Given the description of an element on the screen output the (x, y) to click on. 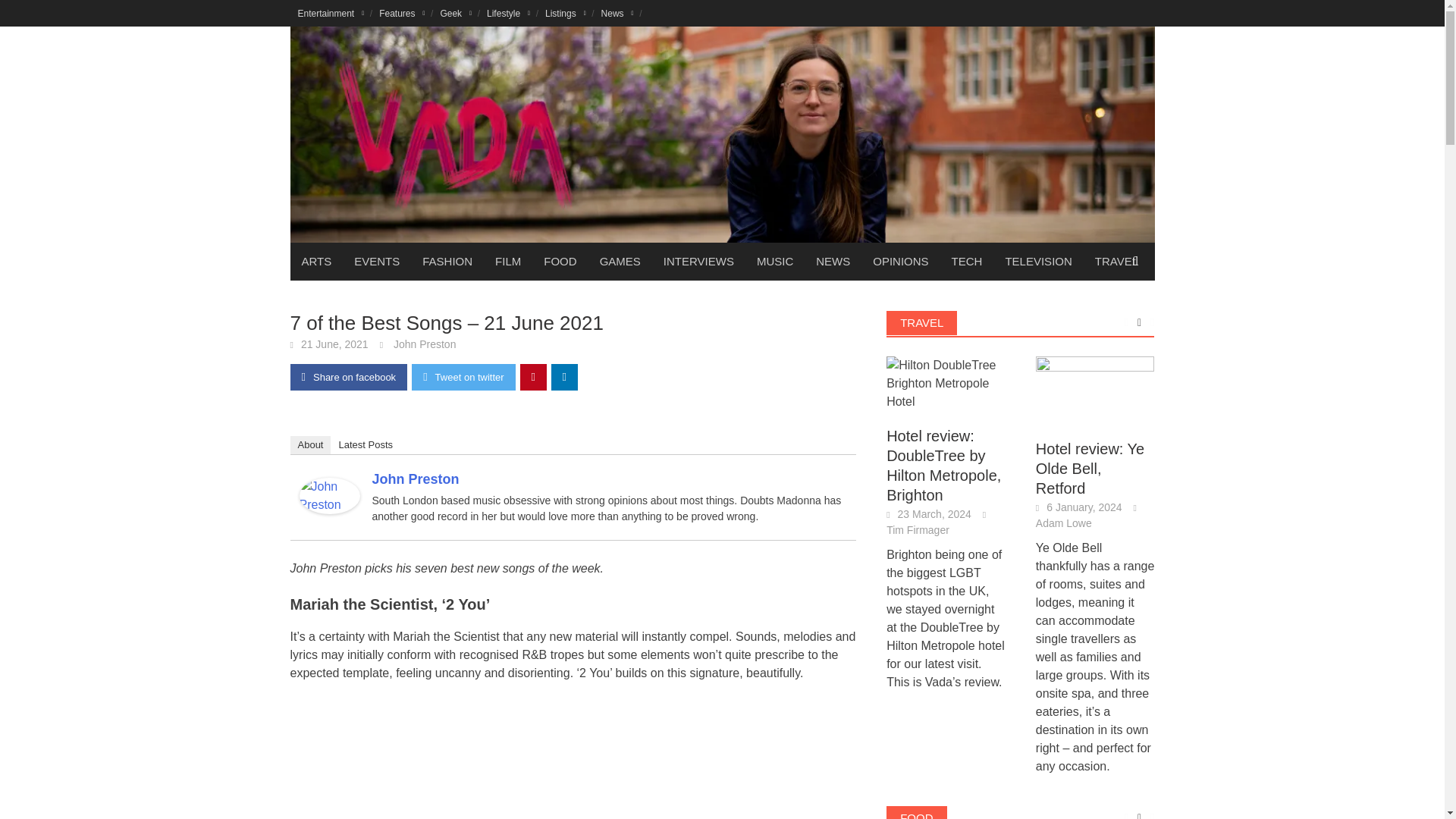
Hotel review: DoubleTree by Hilton Metropole, Brighton (946, 383)
EVENTS (376, 261)
NEWS (833, 261)
FASHION (446, 261)
FOOD (560, 261)
Geek (455, 13)
Lifestyle (508, 13)
INTERVIEWS (698, 261)
Entertainment (330, 13)
Features (401, 13)
John Preston (328, 494)
Listings (565, 13)
FILM (507, 261)
Hotel review: DoubleTree by Hilton Metropole, Brighton (946, 382)
MUSIC (775, 261)
